Given the description of an element on the screen output the (x, y) to click on. 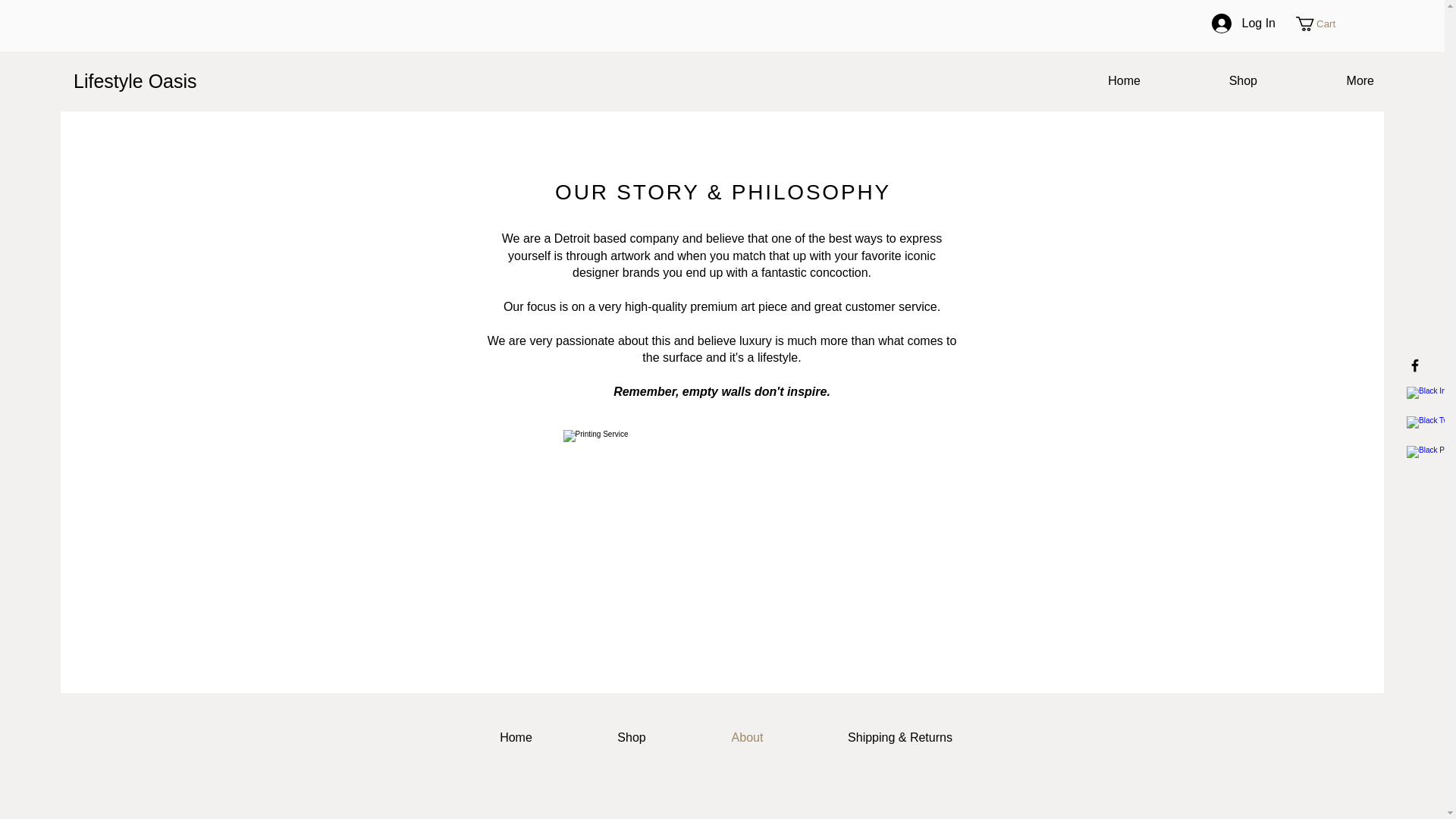
Log In (1243, 23)
About (747, 737)
Cart (1322, 23)
Lifestyle Oasis (146, 81)
Shop (631, 737)
Cart (1322, 23)
Home (516, 737)
Shop (1206, 80)
Home (1089, 80)
